Given the description of an element on the screen output the (x, y) to click on. 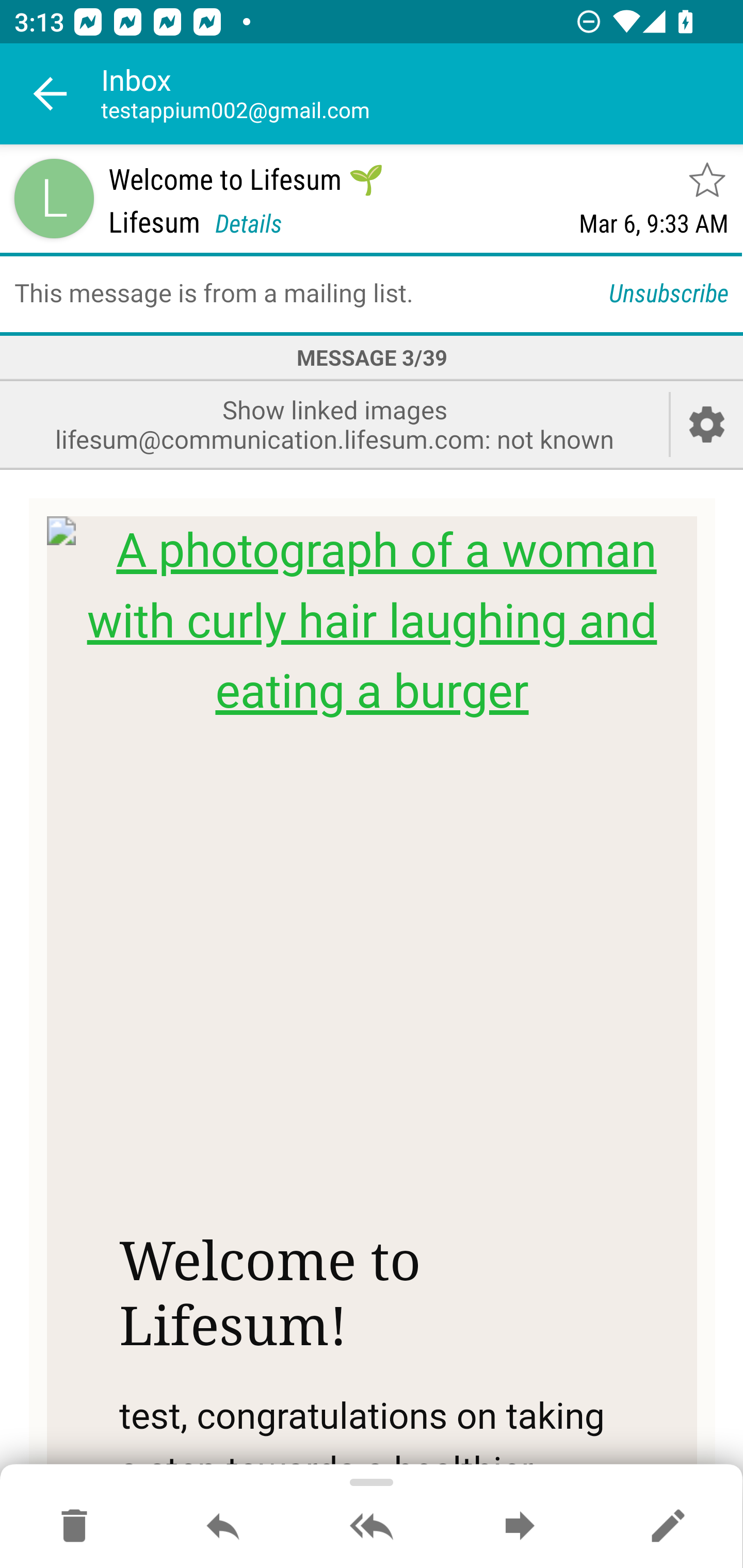
Navigate up (50, 93)
Inbox testappium002@gmail.com (422, 93)
Sender contact button (53, 198)
Unsubscribe (668, 292)
Account setup (706, 424)
Move to Deleted (74, 1527)
Reply (222, 1527)
Reply all (371, 1527)
Forward (519, 1527)
Reply as new (667, 1527)
